Given the description of an element on the screen output the (x, y) to click on. 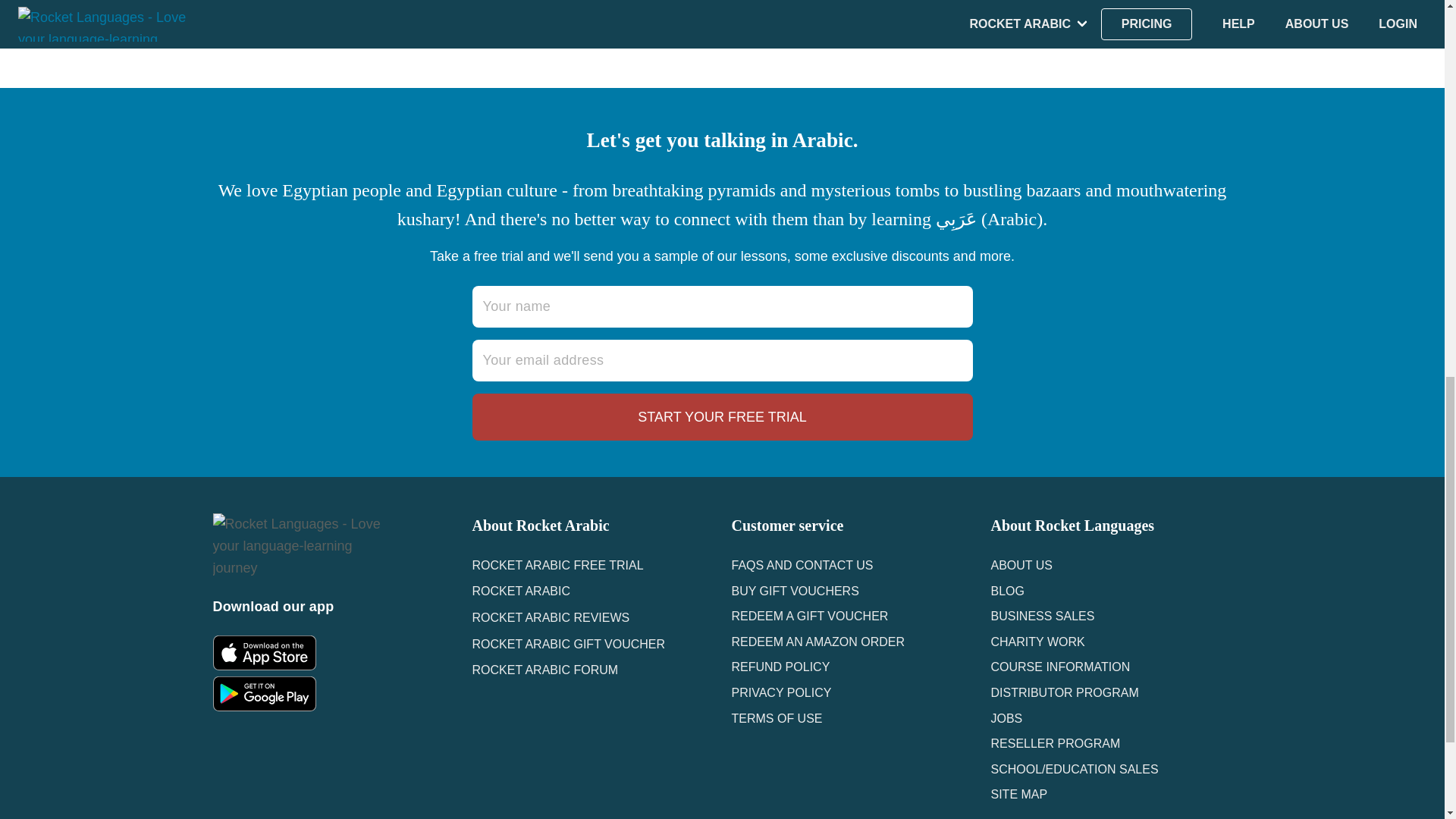
REDEEM A GIFT VOUCHER (809, 615)
REFUND POLICY (779, 666)
TERMS OF USE (776, 717)
FAQS AND CONTACT US (801, 564)
START YOUR FREE TRIAL (721, 416)
ROCKET ARABIC REVIEWS (549, 617)
PRIVACY POLICY (780, 692)
ROCKET ARABIC GIFT VOUCHER (568, 644)
REDEEM AN AMAZON ORDER (817, 641)
ROCKET ARABIC FORUM (544, 669)
ROCKET ARABIC (520, 590)
ROCKET ARABIC FREE TRIAL (557, 564)
BUY GIFT VOUCHERS (794, 590)
